Given the description of an element on the screen output the (x, y) to click on. 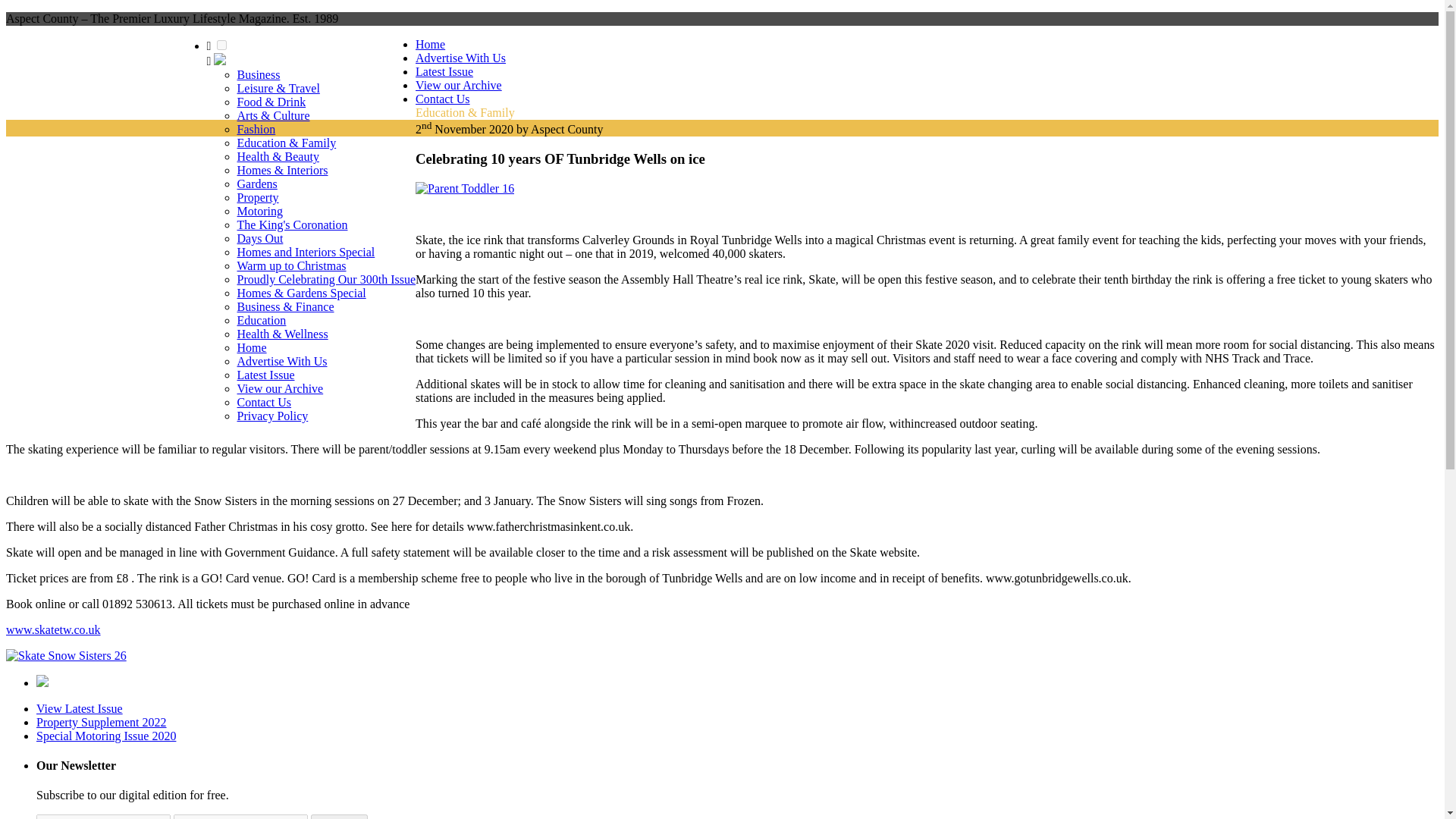
Fashion (255, 128)
Business (257, 74)
Latest Issue (264, 374)
View our Archive (279, 388)
on (221, 44)
Contact Us (263, 401)
Warm up to Christmas (290, 265)
Latest Issue (443, 71)
The King's Coronation (291, 224)
by Aspect County (560, 128)
View our Archive (458, 84)
Home (250, 347)
Homes and Interiors Special (304, 251)
Home (429, 43)
Property (256, 196)
